Given the description of an element on the screen output the (x, y) to click on. 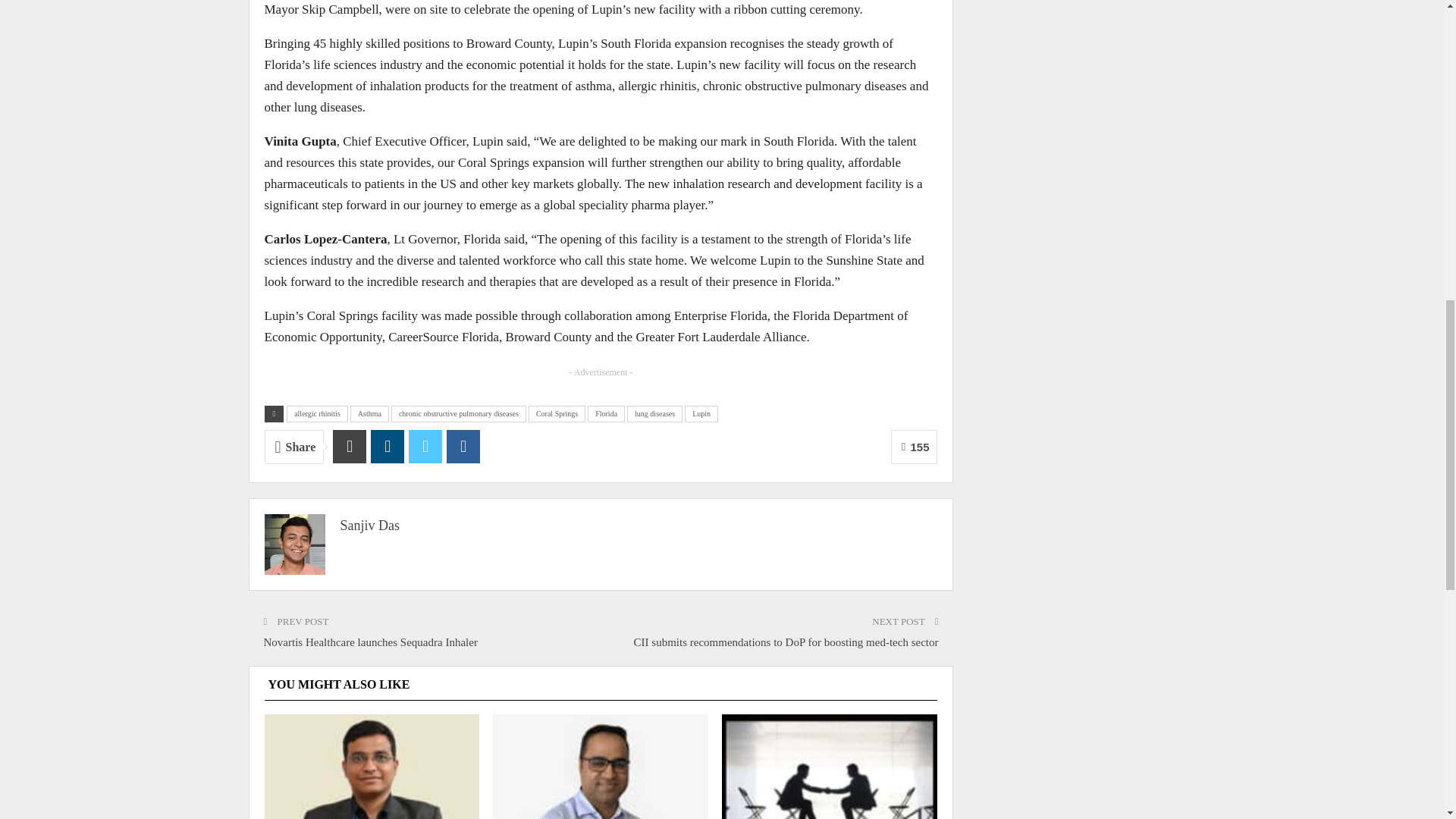
Emcure signs PPA with Sunsure Energy for solar power (829, 766)
